Given the description of an element on the screen output the (x, y) to click on. 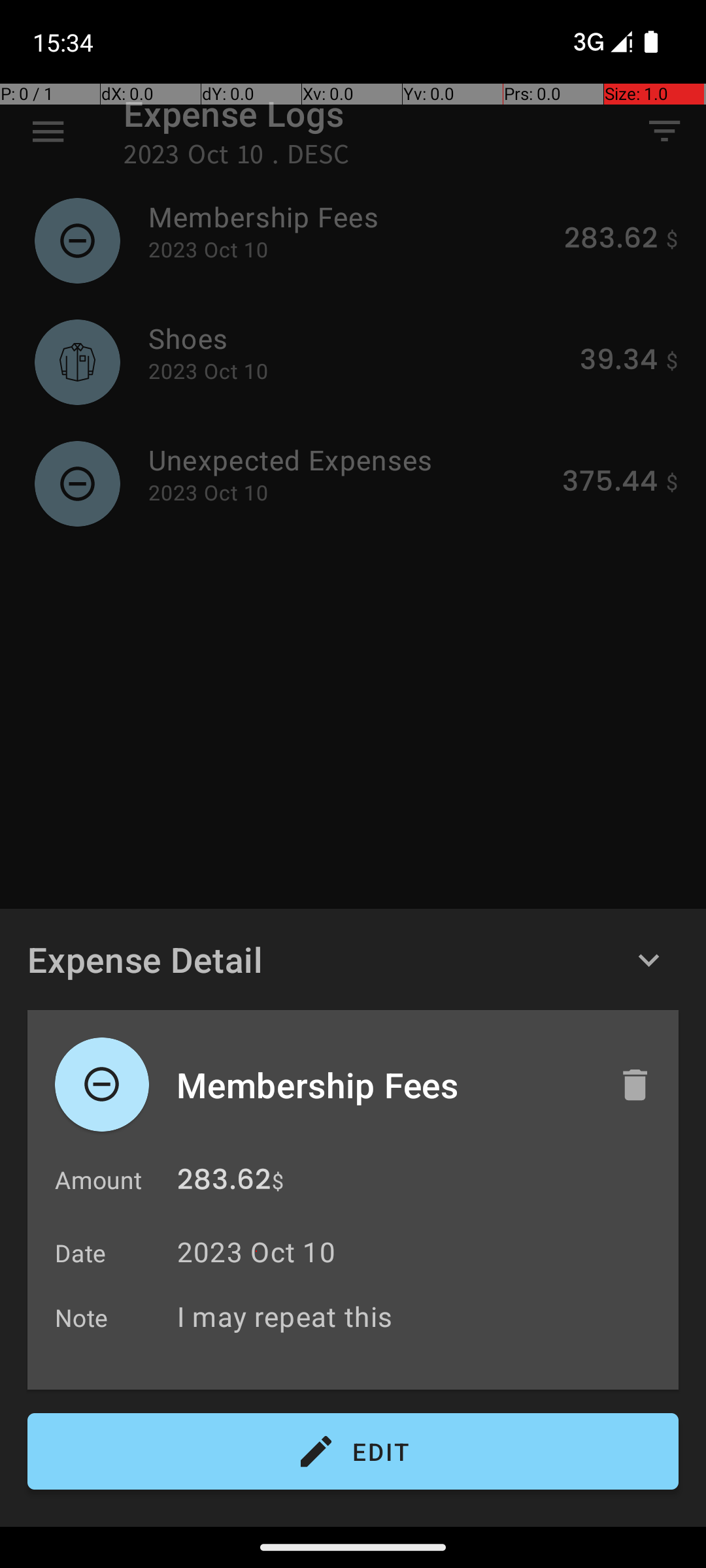
Membership Fees Element type: android.widget.TextView (383, 1084)
283.62 Element type: android.widget.TextView (223, 1182)
$ Element type: android.widget.TextView (277, 1180)
